Given the description of an element on the screen output the (x, y) to click on. 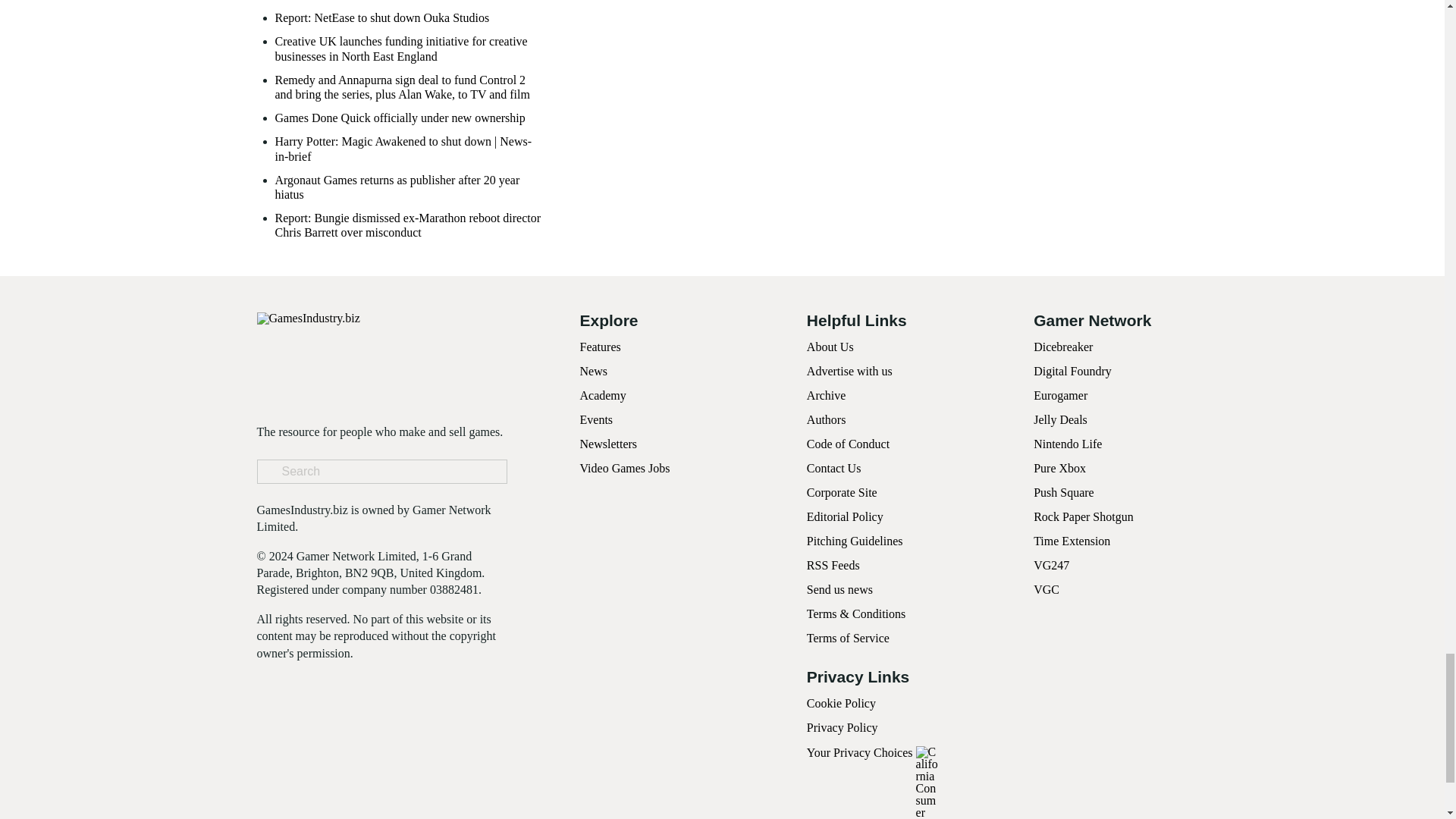
Features (599, 346)
News (593, 370)
Academy (602, 395)
Report: NetEase to shut down Ouka Studios (382, 17)
Events (595, 419)
Games Done Quick officially under new ownership (399, 117)
Argonaut Games returns as publisher after 20 year hiatus (409, 186)
Advertise with us (849, 370)
